Given the description of an element on the screen output the (x, y) to click on. 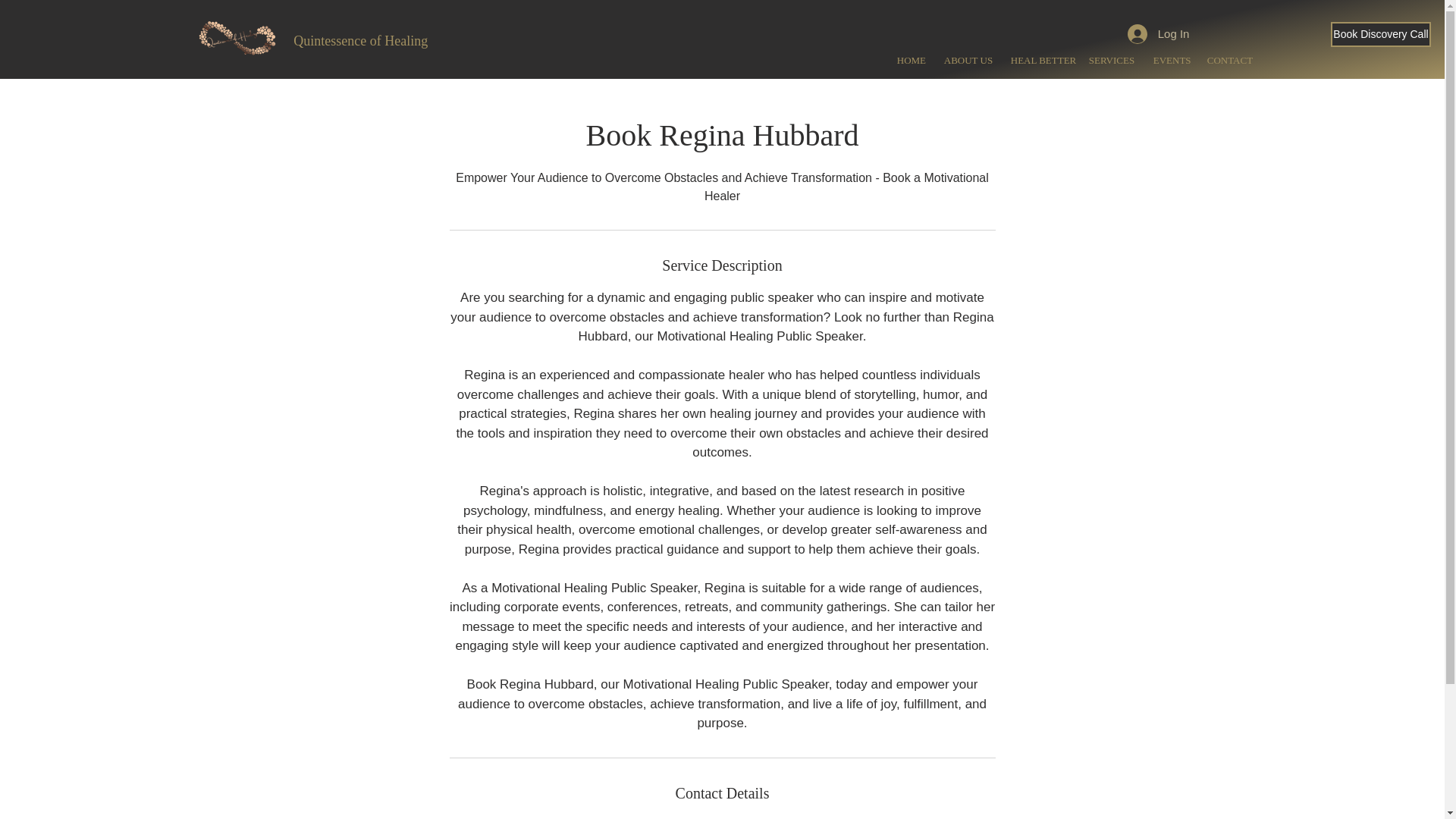
EVENTS (1168, 59)
Quintessence of Healing (361, 40)
HEAL BETTER (1037, 59)
SERVICES (1109, 59)
Log In (1154, 33)
CONTACT (1225, 59)
Book Discovery Call (1380, 34)
HOME (909, 59)
ABOUT US (965, 59)
